Given the description of an element on the screen output the (x, y) to click on. 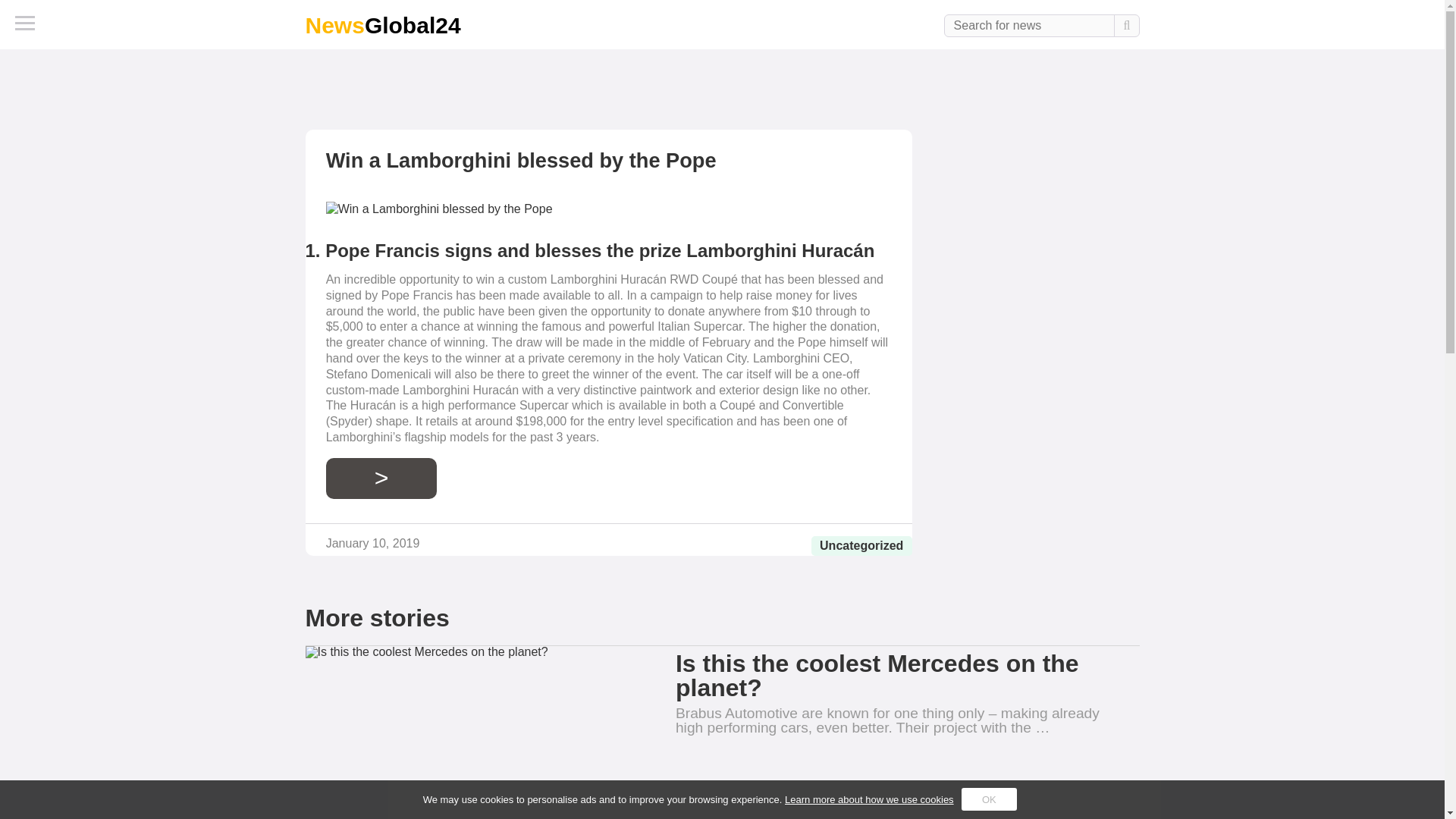
Is this the coolest Mercedes on the planet? (876, 675)
OK (988, 798)
NewsGlobal24 (382, 25)
Permanent Link: Is this the coolest Mercedes on the planet? (876, 675)
Uncategorized (860, 545)
Permanent Link: Is this the coolest Mercedes on the planet? (471, 732)
Learn more about how we use cookies (868, 799)
